Given the description of an element on the screen output the (x, y) to click on. 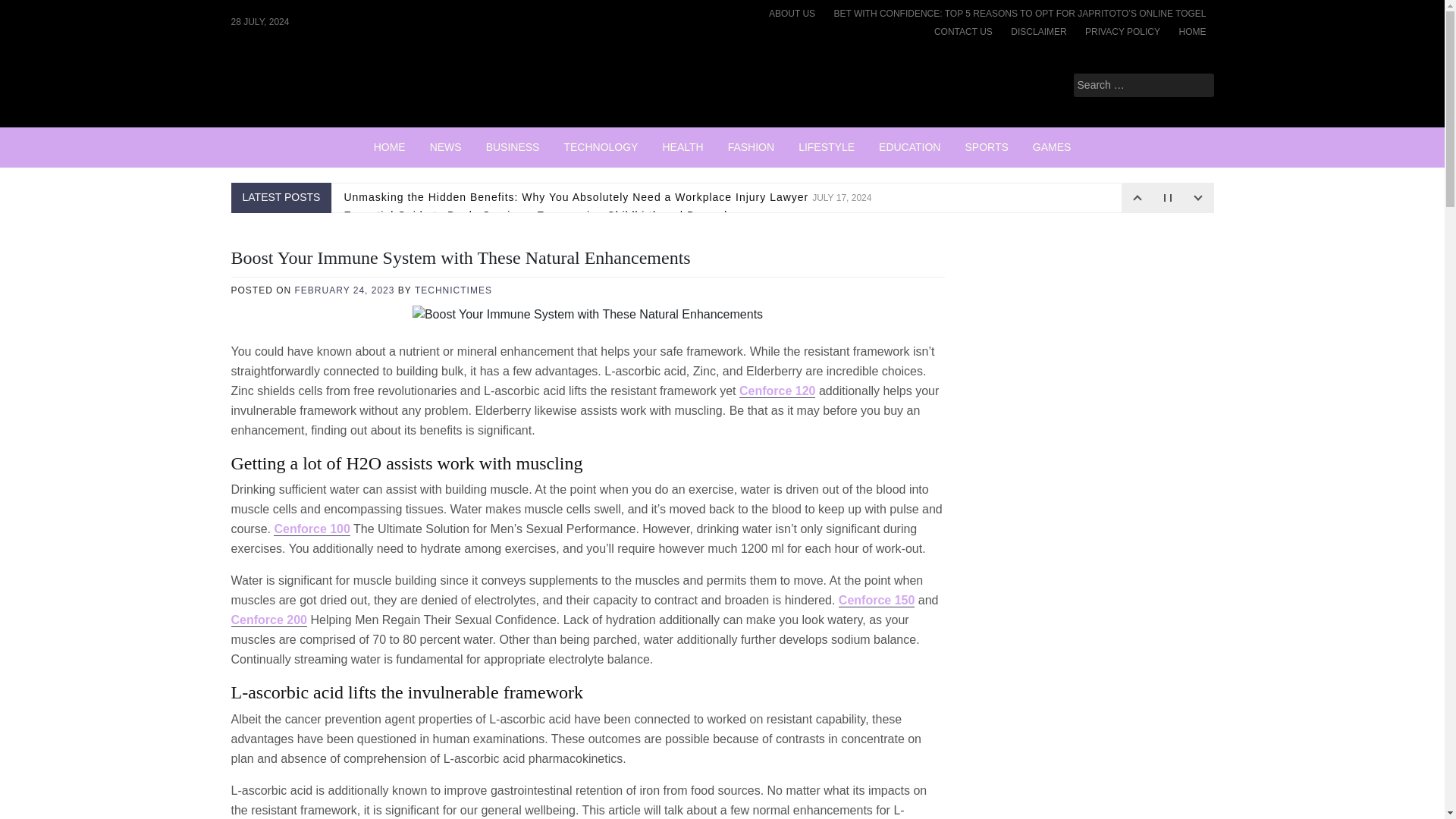
LIFESTYLE (826, 147)
ABOUT US (791, 13)
SPORTS (986, 147)
TECHNICTIMES (453, 290)
Cenforce 120 (777, 391)
EDUCATION (909, 147)
TECHNOLOGY (600, 147)
HEALTH (681, 147)
HOME (1191, 31)
PRIVACY POLICY (1122, 31)
FASHION (751, 147)
Cenforce 200 (268, 620)
GAMES (1051, 147)
DISCLAIMER (1038, 31)
